Given the description of an element on the screen output the (x, y) to click on. 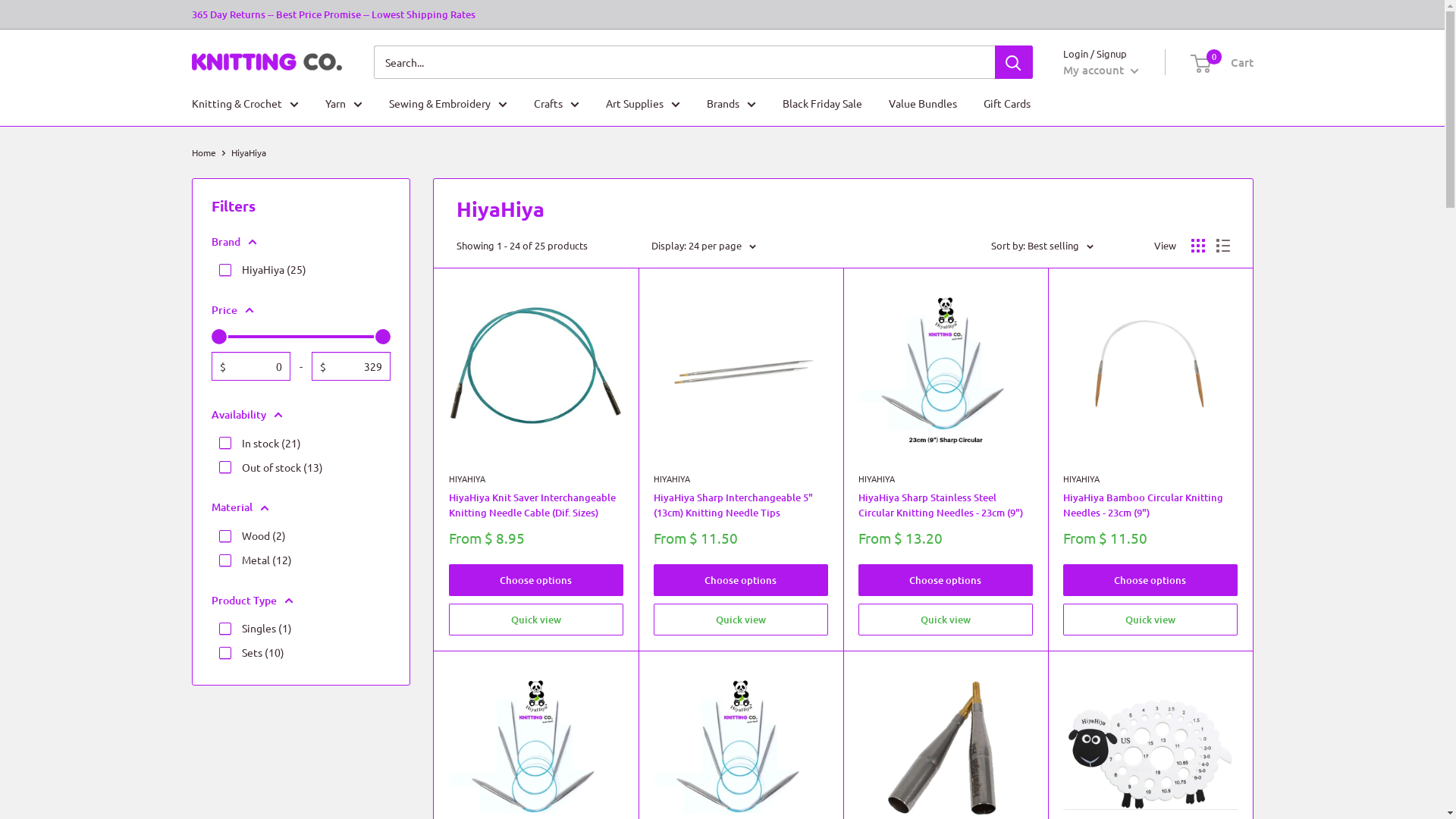
Choose options Element type: text (740, 580)
KNITTING CO. Element type: text (266, 62)
Choose options Element type: text (535, 580)
Price Element type: text (299, 310)
HIYAHIYA Element type: text (1150, 478)
Choose options Element type: text (945, 580)
Gift Cards Element type: text (1005, 102)
Sort by: Best selling Element type: text (1041, 245)
Quick view Element type: text (945, 619)
HiyaHiya Bamboo Circular Knitting Needles - 23cm (9") Element type: text (1150, 504)
0
Cart Element type: text (1222, 61)
My account Element type: text (1101, 69)
Yarn Element type: text (342, 102)
HiyaHiya Element type: text (247, 152)
Quick view Element type: text (535, 619)
Product Type Element type: text (299, 600)
HIYAHIYA Element type: text (535, 478)
Value Bundles Element type: text (922, 102)
Display: 24 per page Element type: text (702, 245)
Choose options Element type: text (1150, 580)
Quick view Element type: text (1150, 619)
Home Element type: text (203, 152)
Black Friday Sale Element type: text (822, 102)
Sewing & Embroidery Element type: text (447, 102)
Knitting & Crochet Element type: text (244, 102)
Quick view Element type: text (740, 619)
Availability Element type: text (299, 414)
Art Supplies Element type: text (642, 102)
Brands Element type: text (731, 102)
Material Element type: text (299, 507)
HIYAHIYA Element type: text (945, 478)
Brand Element type: text (299, 241)
HIYAHIYA Element type: text (740, 478)
Crafts Element type: text (556, 102)
